Given the description of an element on the screen output the (x, y) to click on. 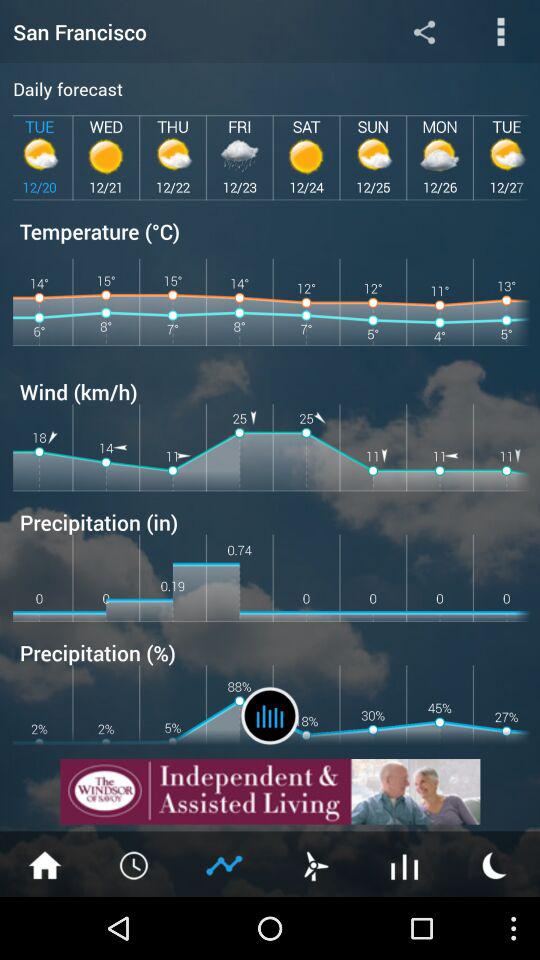
click on add (270, 791)
